Given the description of an element on the screen output the (x, y) to click on. 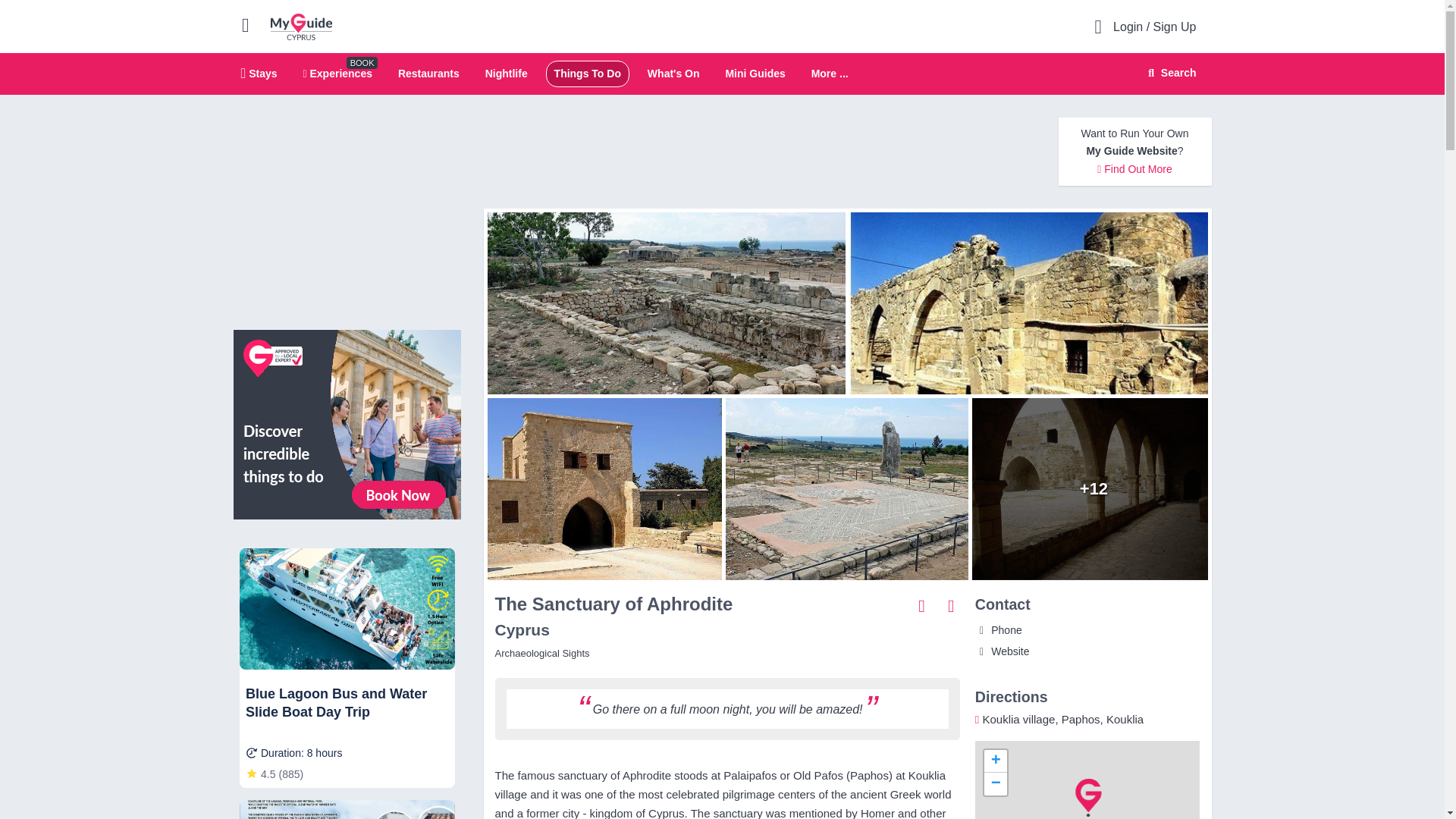
The Sanctuary of Aphrodite (600, 488)
Restaurants (428, 73)
Website (1002, 651)
View All Experiences (346, 423)
My Guide Cyprus (300, 25)
The Sanctuary of Aphrodite (1093, 488)
Experiences (337, 73)
Things To Do (587, 73)
Search (1169, 72)
The Sanctuary of Aphrodite (1031, 302)
Nightlife (505, 73)
The Sanctuary of Aphrodite (846, 488)
Mini Guides (754, 73)
The Sanctuary of Aphrodite (662, 302)
